Given the description of an element on the screen output the (x, y) to click on. 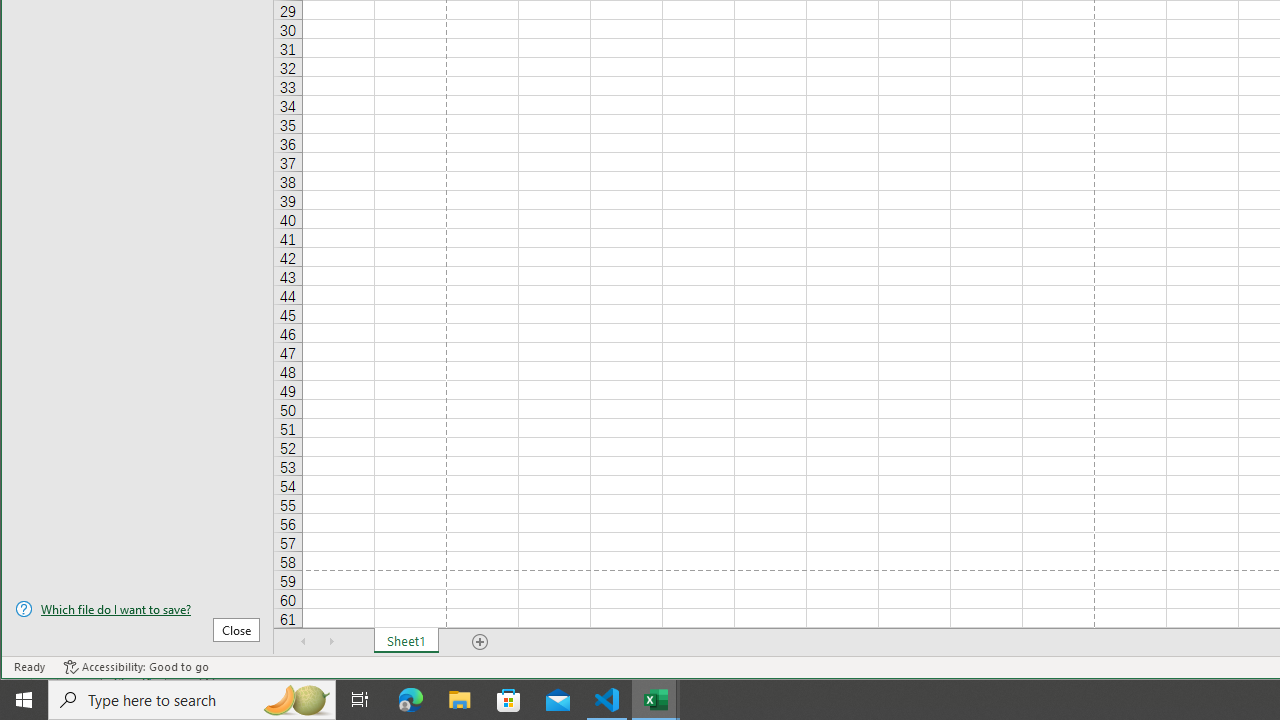
Type here to search (191, 699)
File Explorer (460, 699)
Microsoft Edge (411, 699)
Microsoft Store (509, 699)
Search highlights icon opens search home window (295, 699)
Excel - 2 running windows (656, 699)
Start (24, 699)
Task View (359, 699)
